Given the description of an element on the screen output the (x, y) to click on. 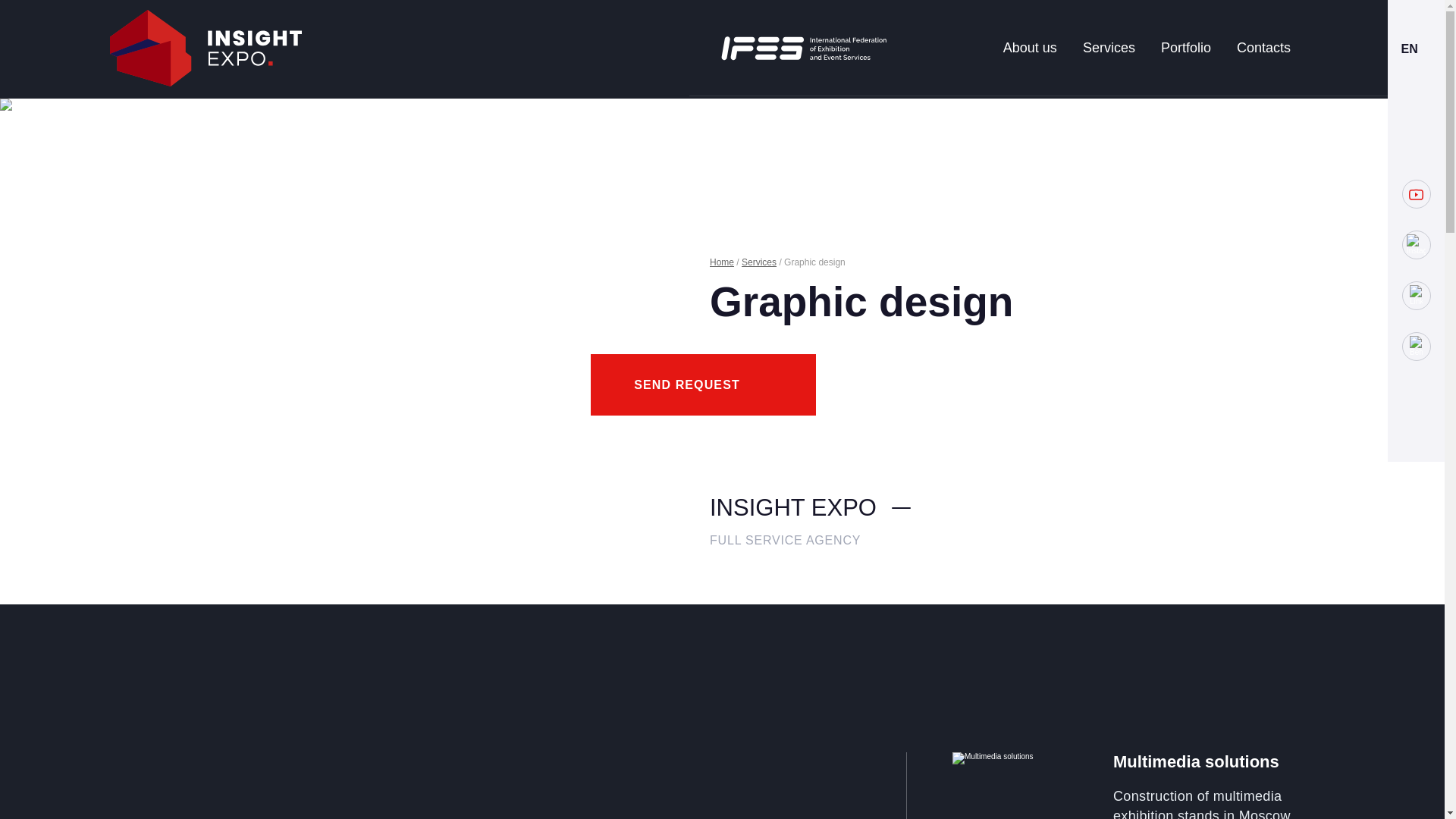
Instagram (1414, 244)
Home (721, 262)
About us (1030, 47)
YouTube (1414, 193)
Portfolio (1185, 47)
Behance (1414, 346)
LinkedIn (1414, 295)
SEND REQUEST (703, 384)
Services (1109, 47)
Services (758, 262)
Contacts (1263, 47)
